Given the description of an element on the screen output the (x, y) to click on. 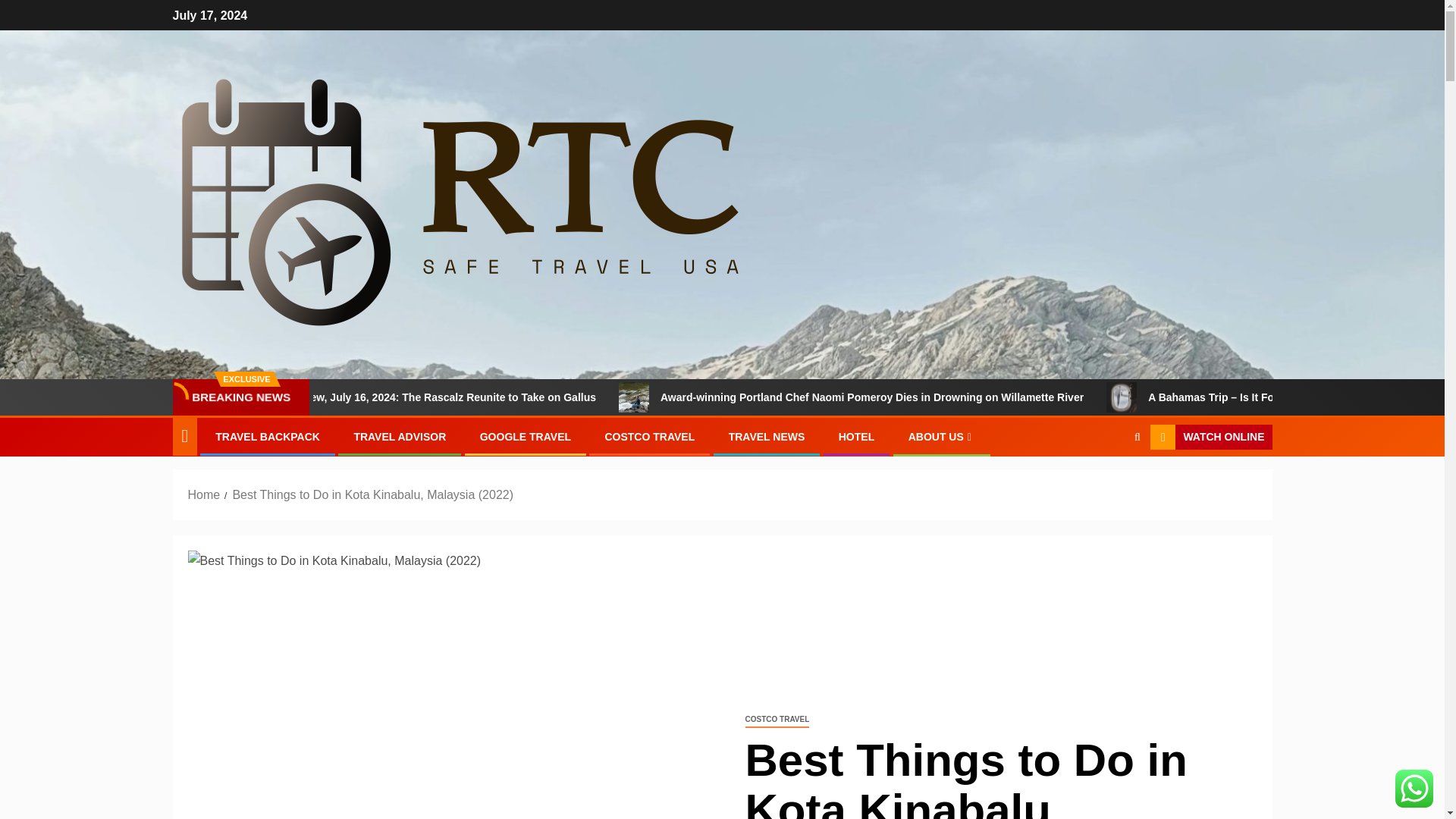
TRAVEL BACKPACK (267, 436)
COSTCO TRAVEL (649, 436)
TRAVEL NEWS (767, 436)
Search (1107, 483)
GOOGLE TRAVEL (525, 436)
Search (1136, 437)
Home (204, 494)
ABOUT US (941, 436)
WATCH ONLINE (1210, 437)
HOTEL (856, 436)
TRAVEL ADVISOR (399, 436)
COSTCO TRAVEL (776, 719)
